Given the description of an element on the screen output the (x, y) to click on. 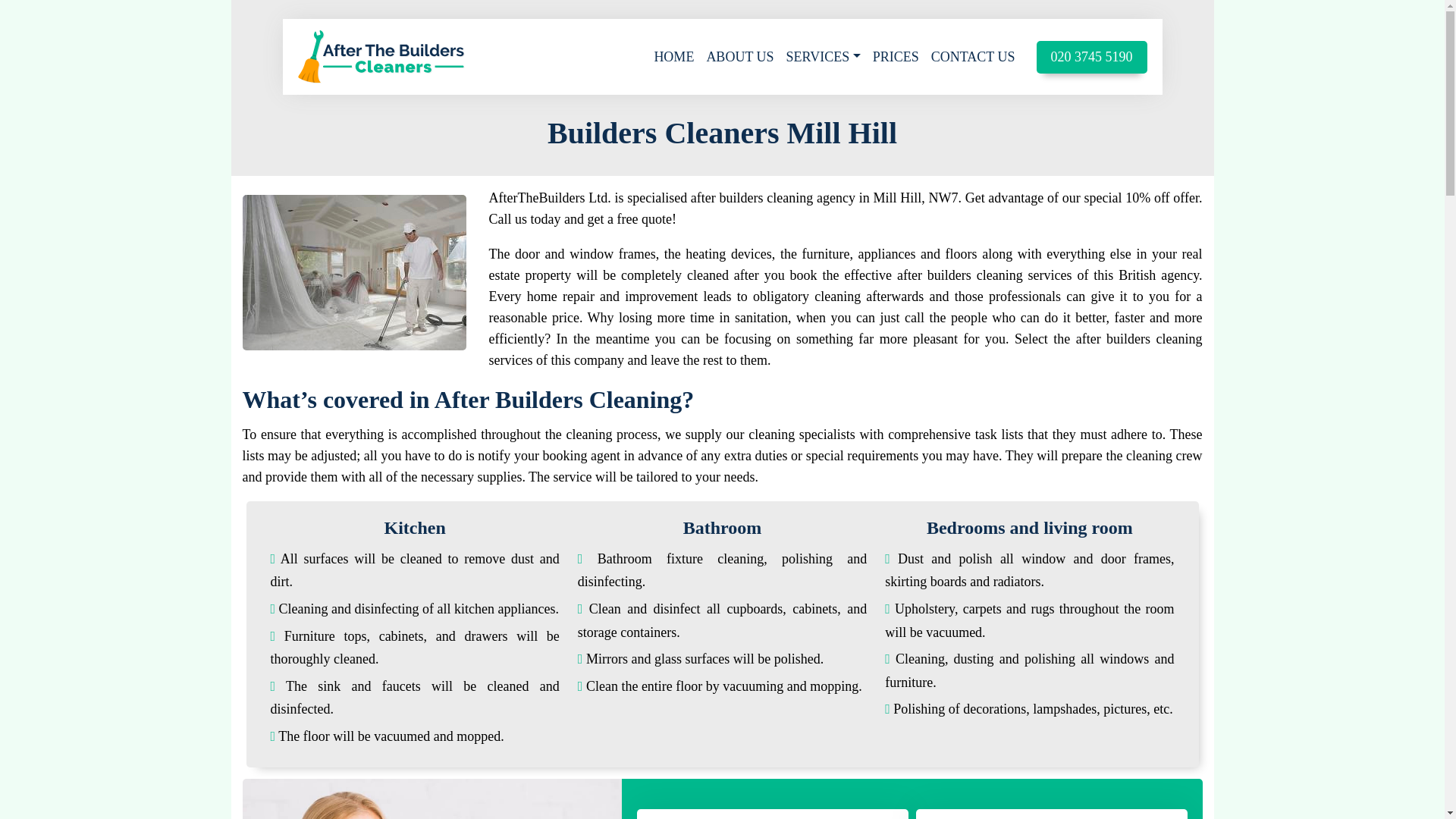
020 3745 5190 (1091, 56)
SERVICES (823, 57)
CONTACT US (973, 57)
PRICES (895, 57)
ABOUT US (739, 57)
HOME (673, 57)
